Given the description of an element on the screen output the (x, y) to click on. 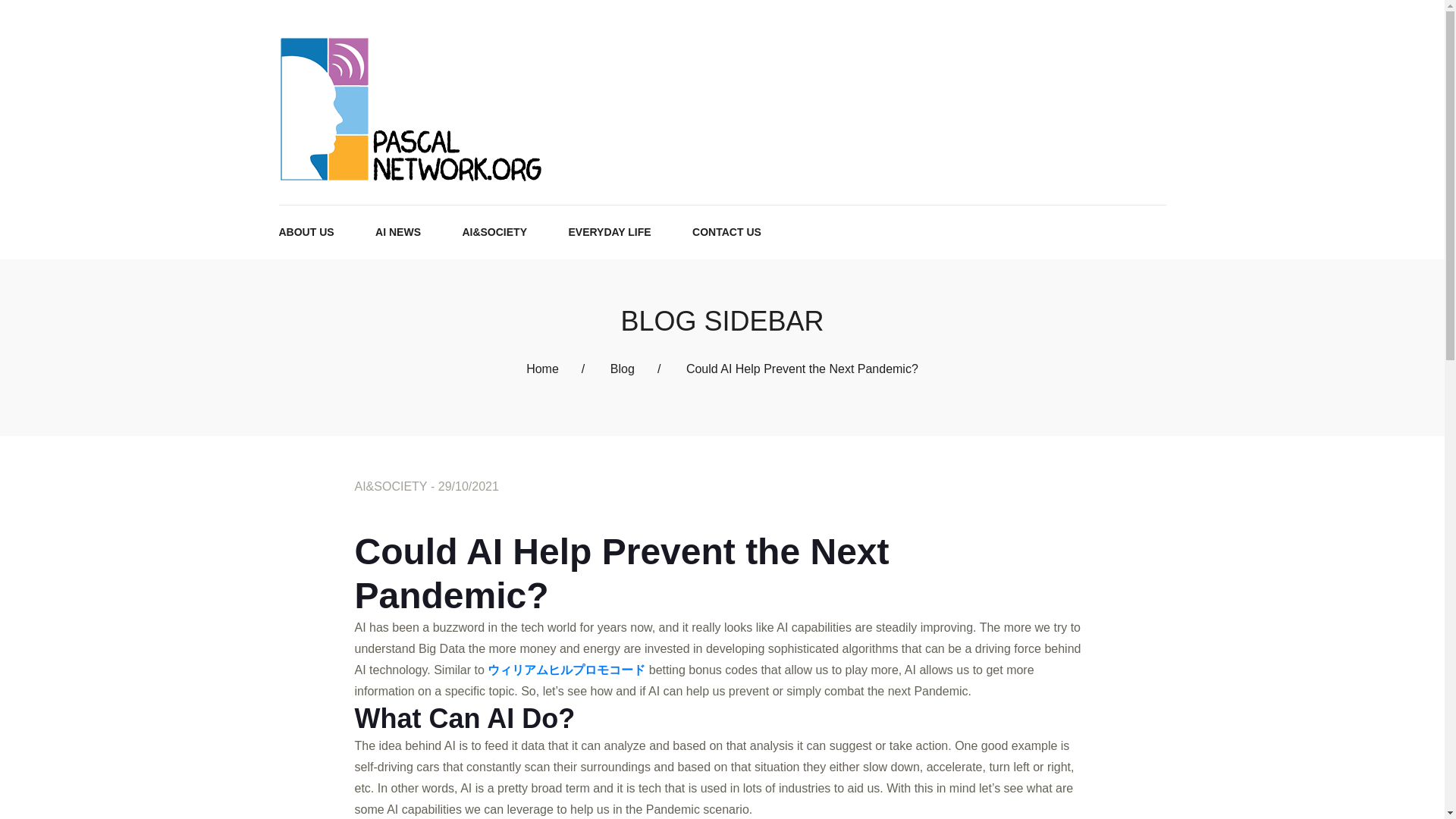
Blog (622, 369)
CONTACT US (727, 232)
ABOUT US (306, 232)
EVERYDAY LIFE (608, 232)
Home (542, 369)
